Given the description of an element on the screen output the (x, y) to click on. 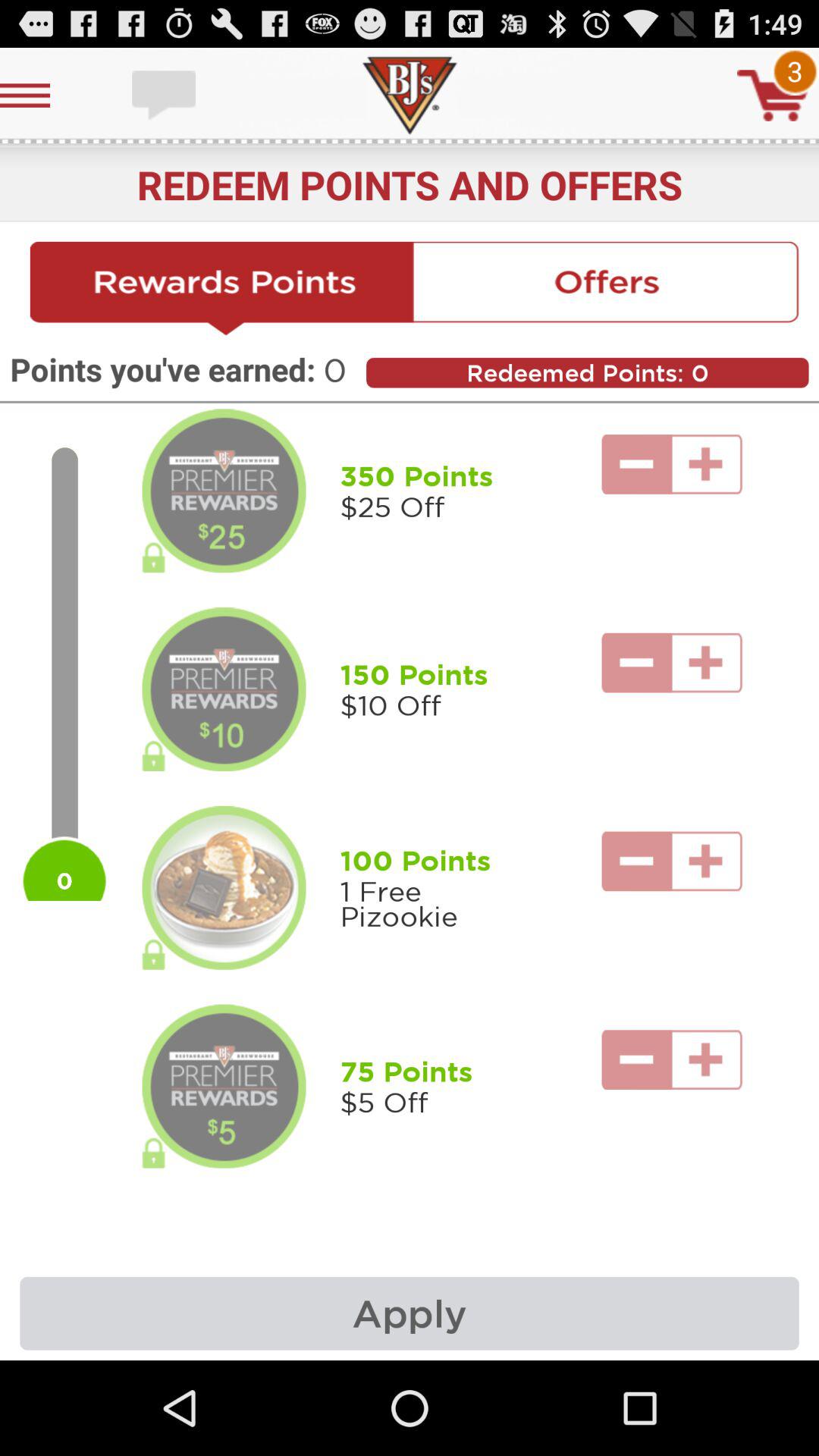
open live support (165, 95)
